Given the description of an element on the screen output the (x, y) to click on. 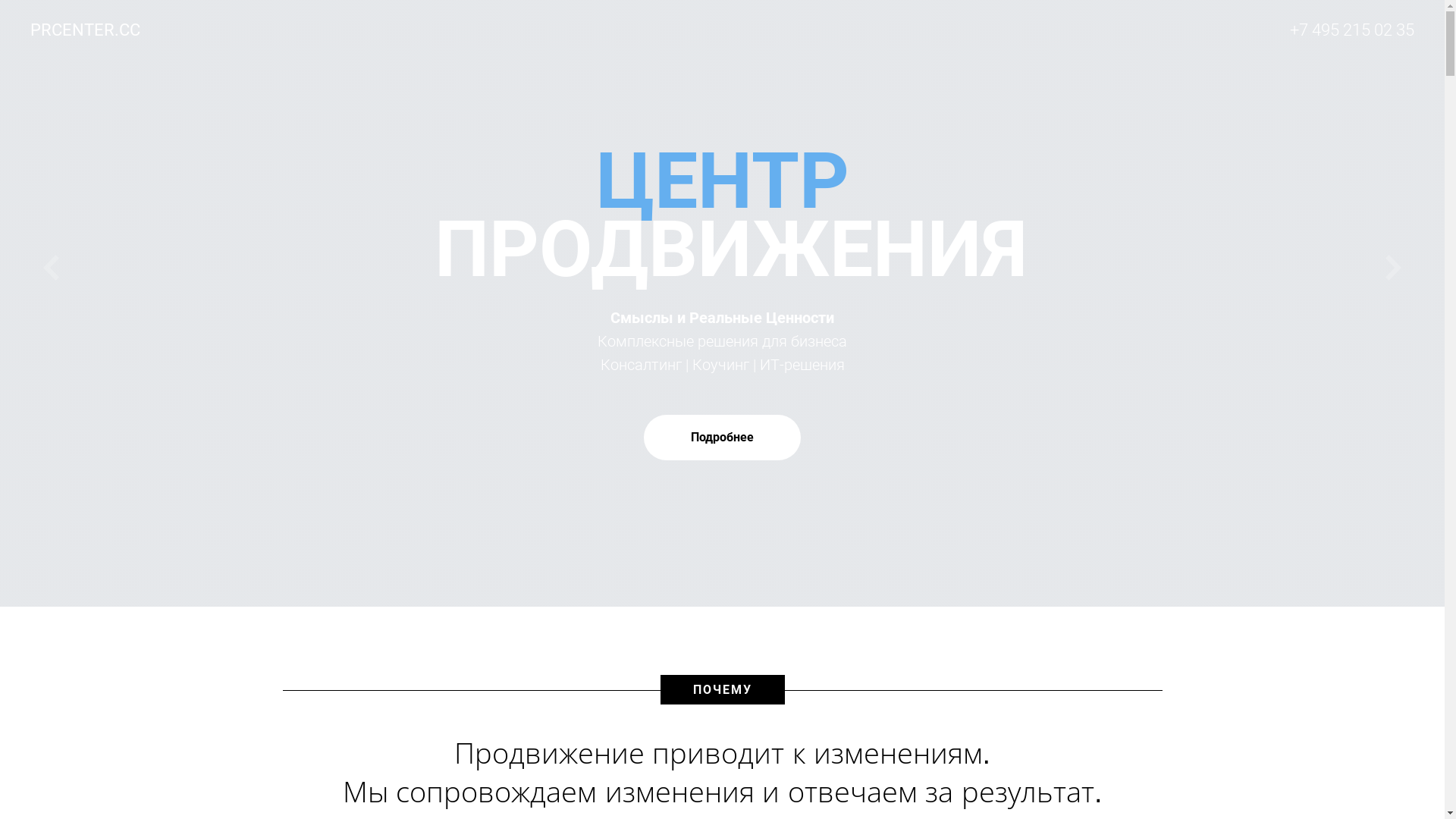
PRCENTER.CC Element type: text (96, 30)
